Given the description of an element on the screen output the (x, y) to click on. 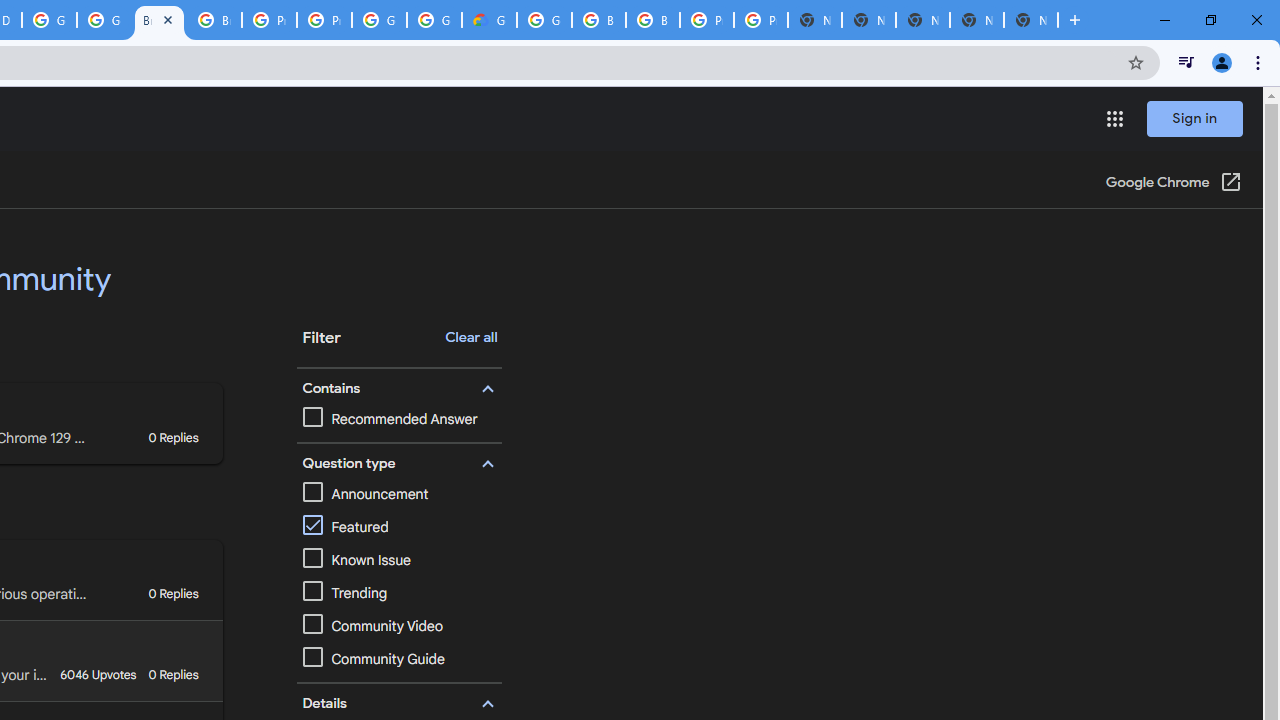
Clear all (471, 337)
Browse Chrome as a guest - Computer - Google Chrome Help (213, 20)
Featured (345, 527)
Community Video (399, 626)
